Given the description of an element on the screen output the (x, y) to click on. 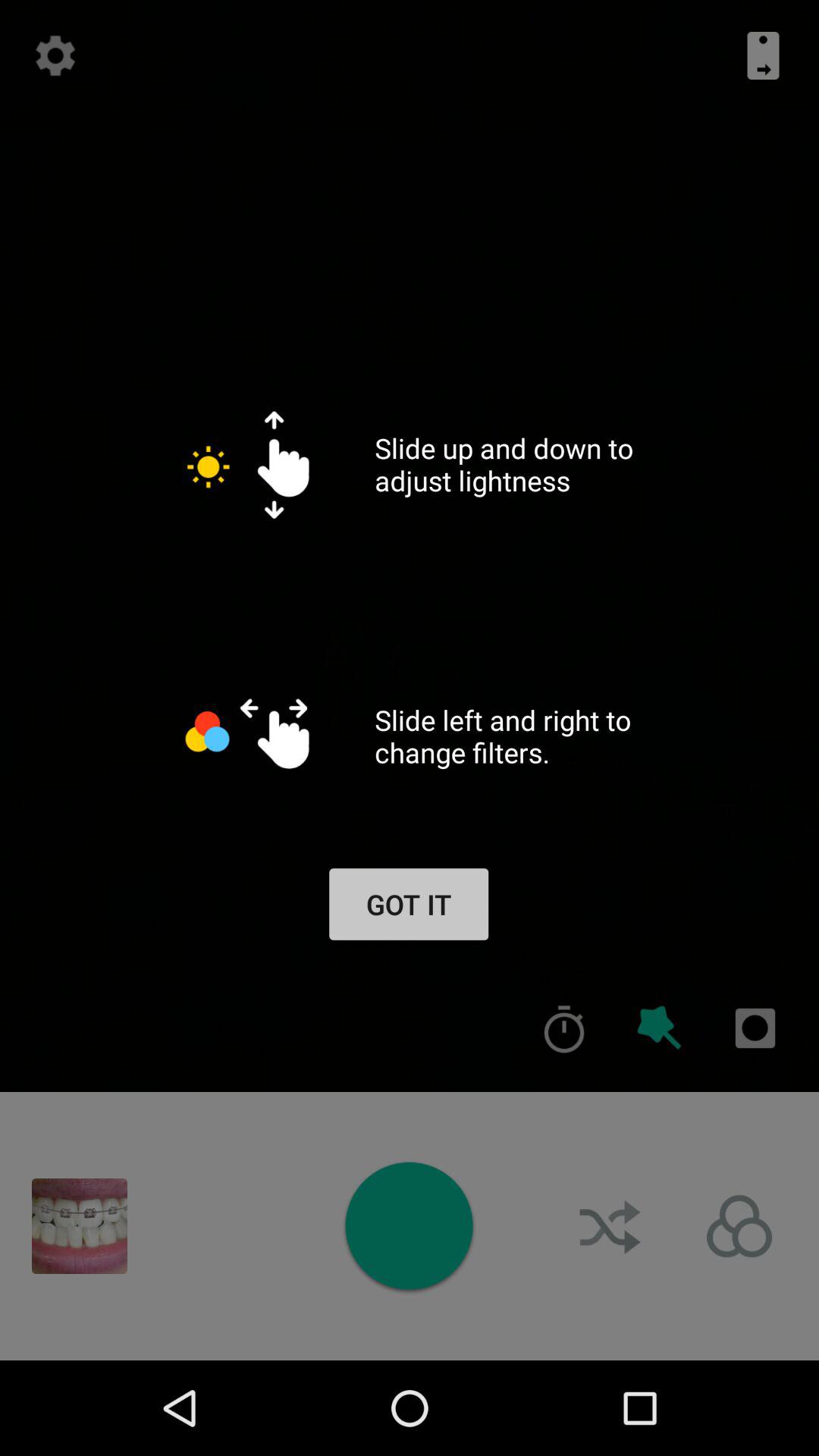
turn off got it (408, 904)
